Given the description of an element on the screen output the (x, y) to click on. 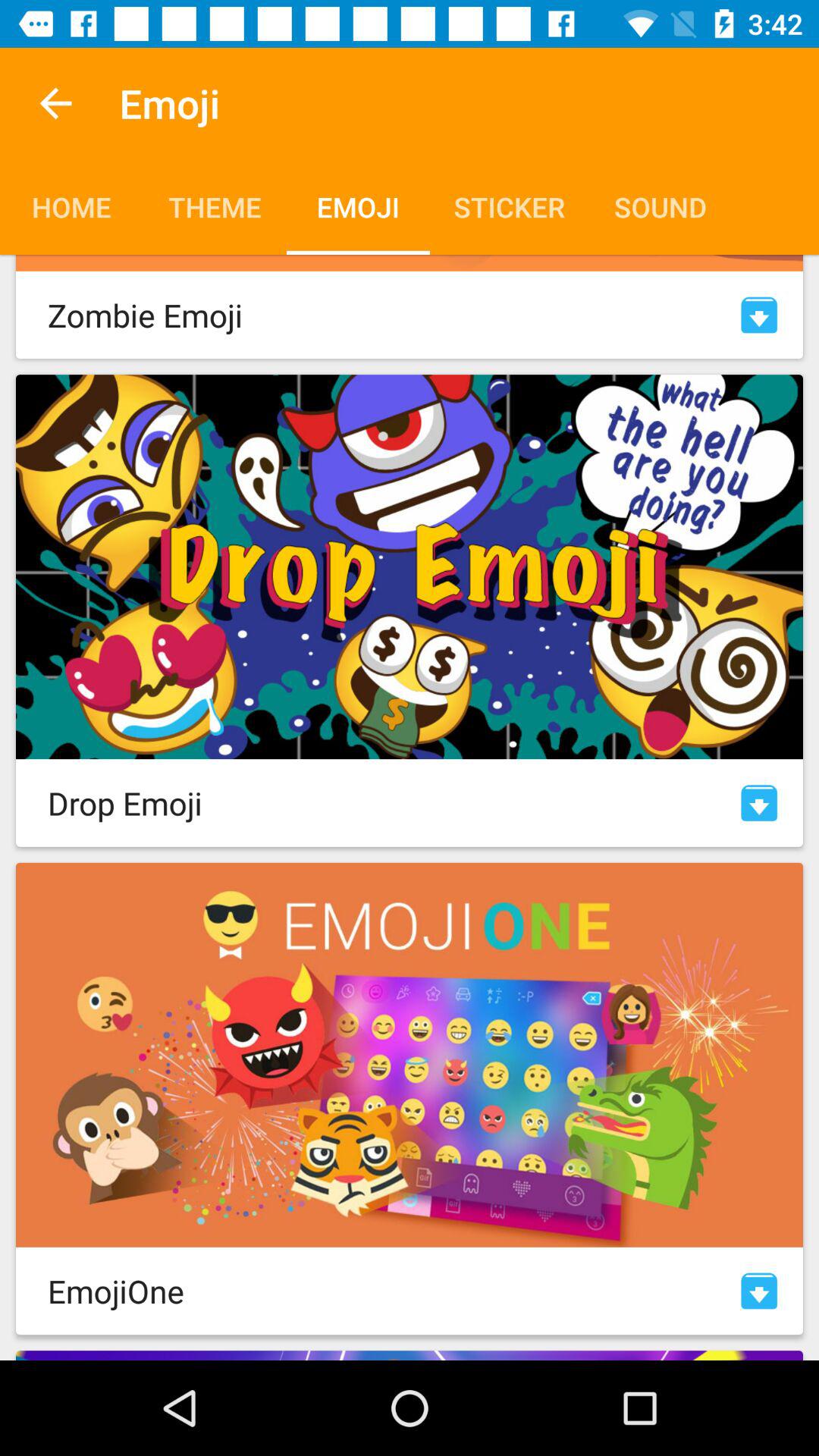
click item above the home icon (55, 103)
